Given the description of an element on the screen output the (x, y) to click on. 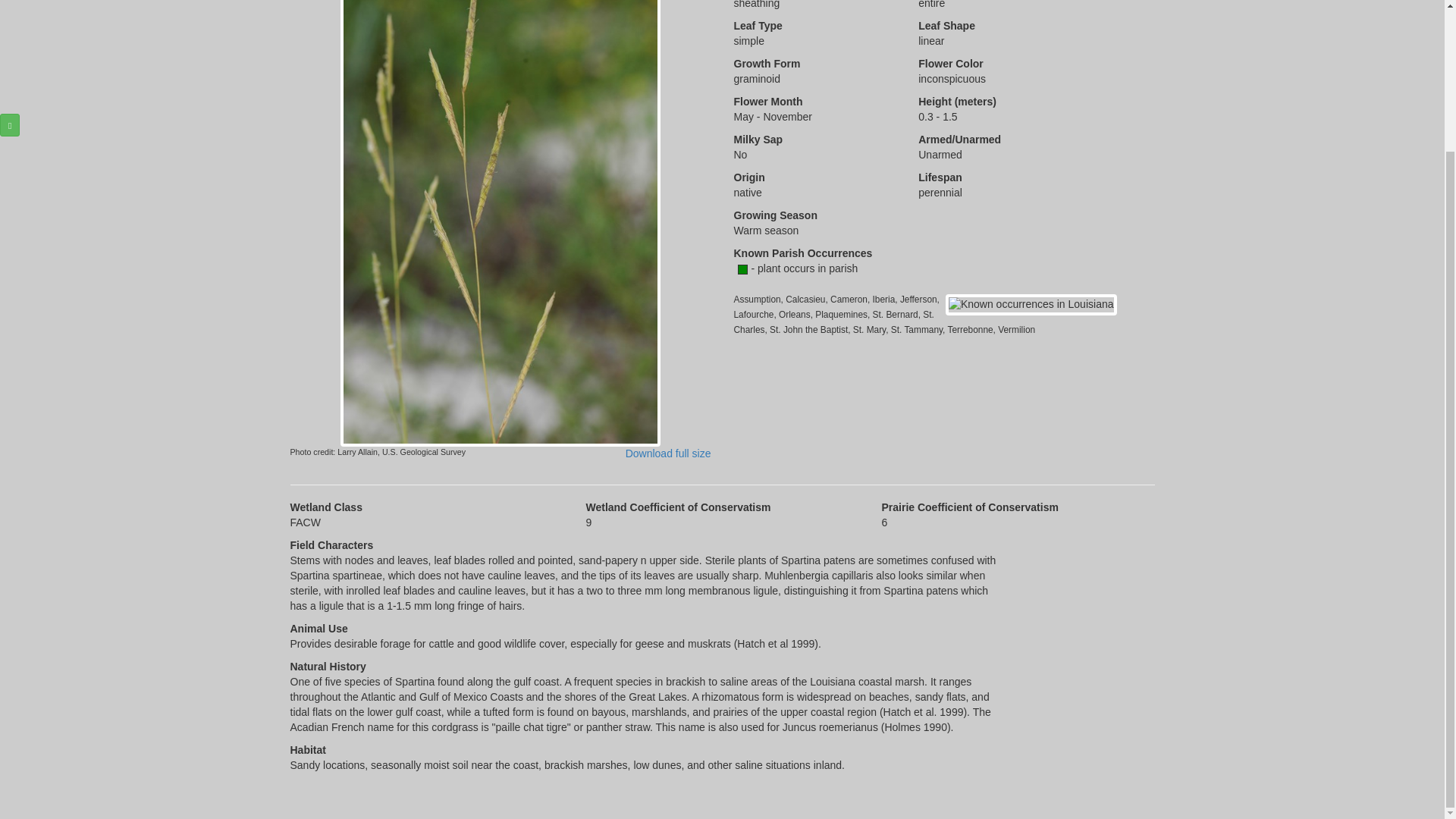
Download full size (668, 453)
